Given the description of an element on the screen output the (x, y) to click on. 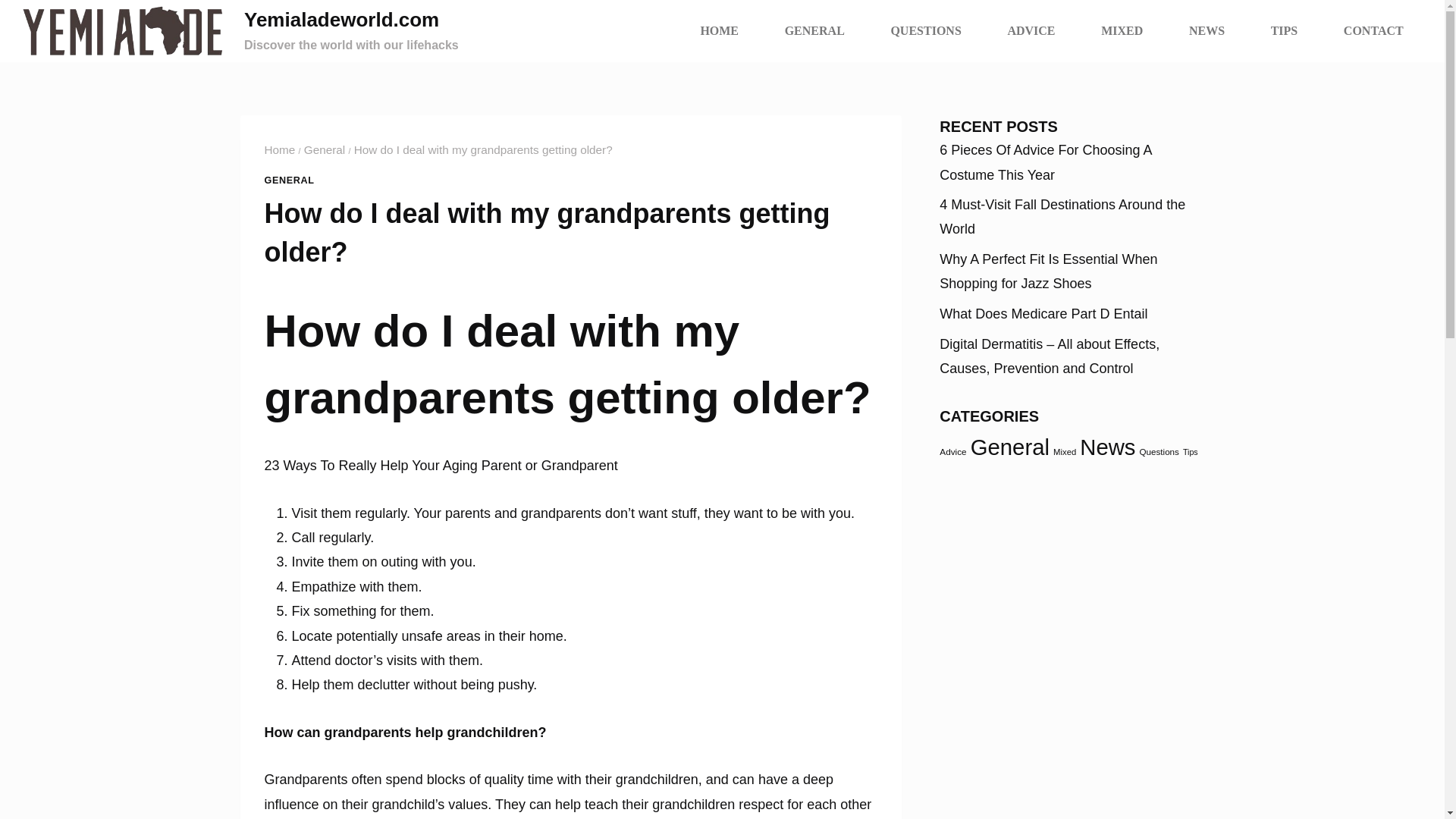
Facebook (5, 157)
Home (279, 149)
Telegram (5, 187)
4 Must-Visit Fall Destinations Around the World (1062, 216)
Advice (952, 451)
WhatsApp (5, 182)
TIPS (1283, 30)
Twitter (5, 163)
What Does Medicare Part D Entail (1043, 313)
Tips (1190, 451)
